Given the description of an element on the screen output the (x, y) to click on. 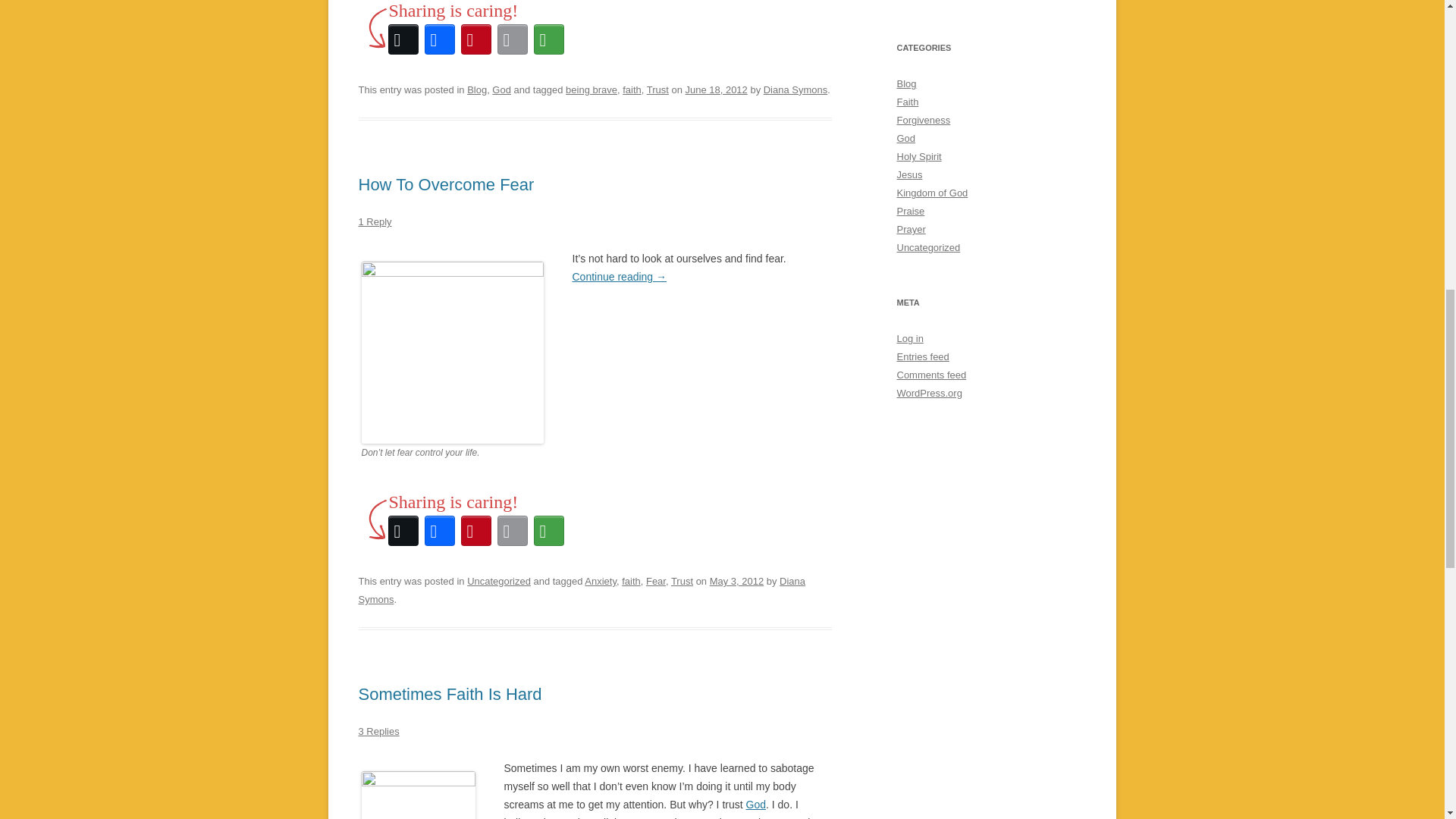
Facebook (440, 39)
Anxiety (600, 581)
Fear (655, 581)
Uncategorized (499, 581)
View all posts by Diana Symons (581, 590)
View all posts by Diana Symons (794, 89)
Email This (513, 530)
Blog (476, 89)
How To Overcome Fear (446, 184)
Pinterest (476, 530)
faith (632, 89)
Diana Symons (581, 590)
More Options (549, 530)
headache (417, 795)
More Options (549, 39)
